Given the description of an element on the screen output the (x, y) to click on. 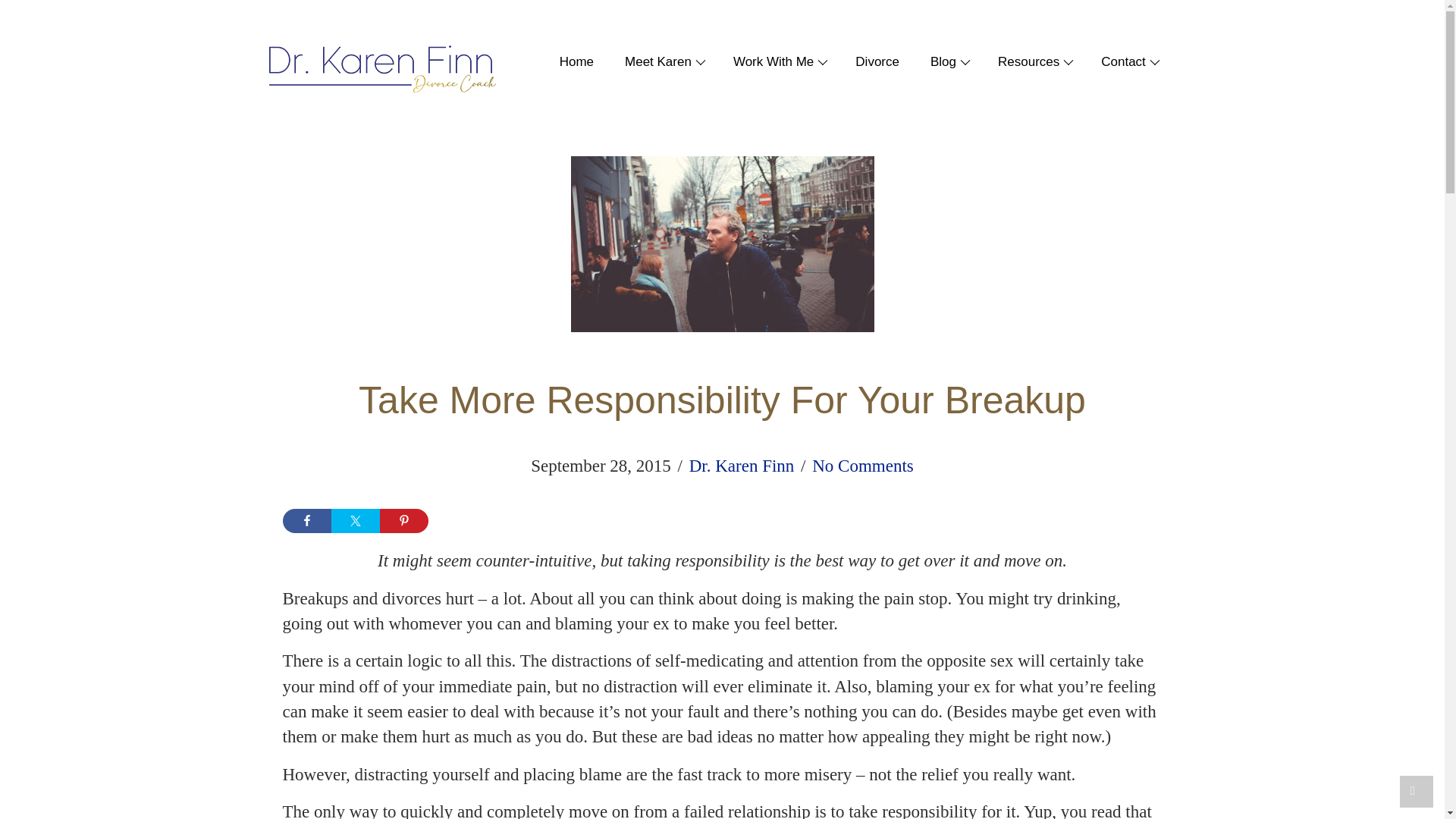
Work With Me (770, 61)
Man walking through town. (721, 244)
Blog (940, 61)
Divorce (869, 61)
Home (569, 61)
Logo-Dr-Karen-Finn (381, 70)
Dr. Karen Finn (741, 465)
Share on Facebook (306, 520)
Resources (1026, 61)
Share on Twitter (354, 520)
Share on Pinterest (403, 520)
Meet Karen (656, 61)
Contact (1120, 61)
